Given the description of an element on the screen output the (x, y) to click on. 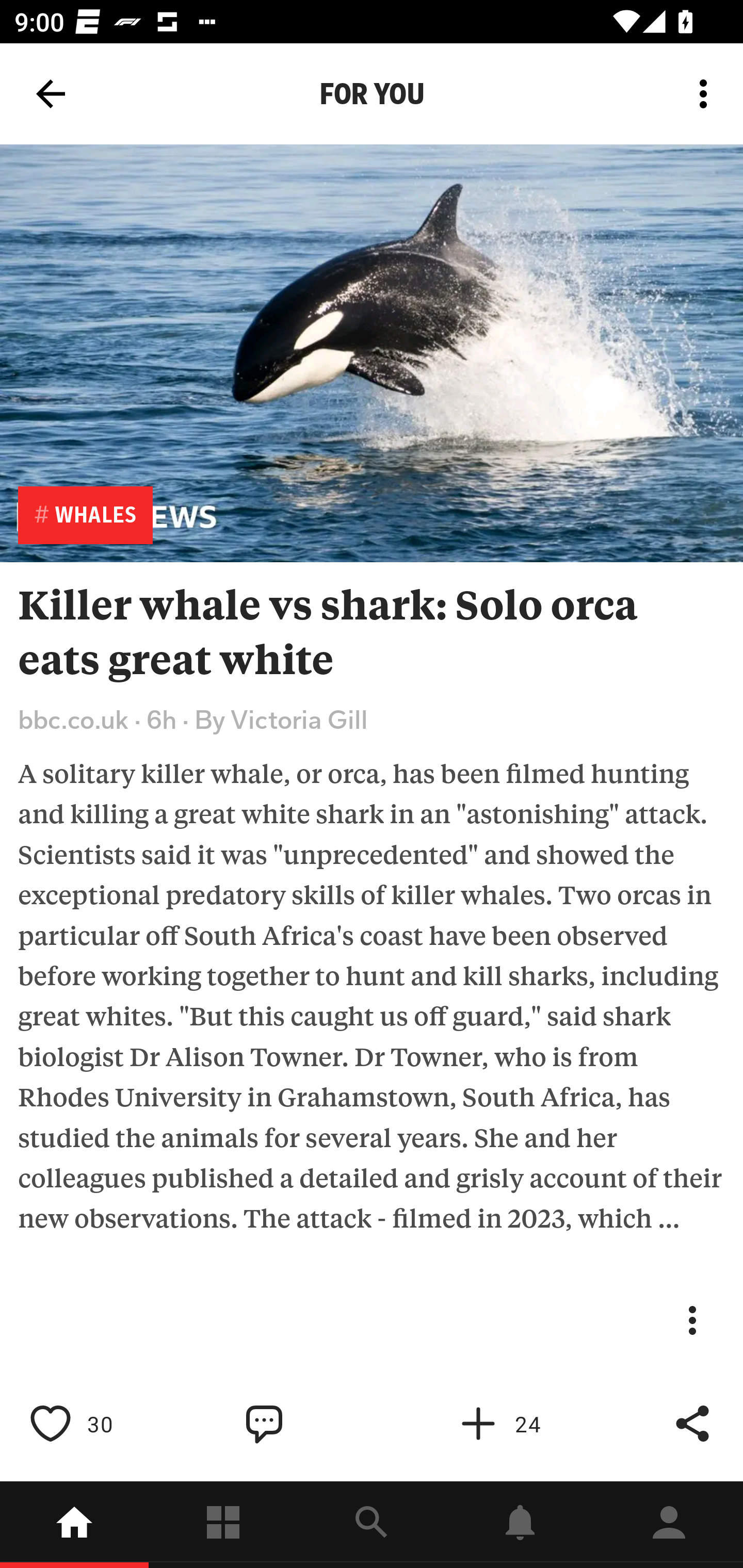
Back (50, 93)
FOR YOU (371, 93)
More options (706, 93)
More options (706, 93)
# WHALES (85, 515)
More (692, 1319)
Like 10 (93, 1423)
Write a comment… (307, 1423)
Flip into Magazine 49 (521, 1423)
home (74, 1524)
Following (222, 1524)
explore (371, 1524)
Notifications (519, 1524)
Profile (668, 1524)
